Given the description of an element on the screen output the (x, y) to click on. 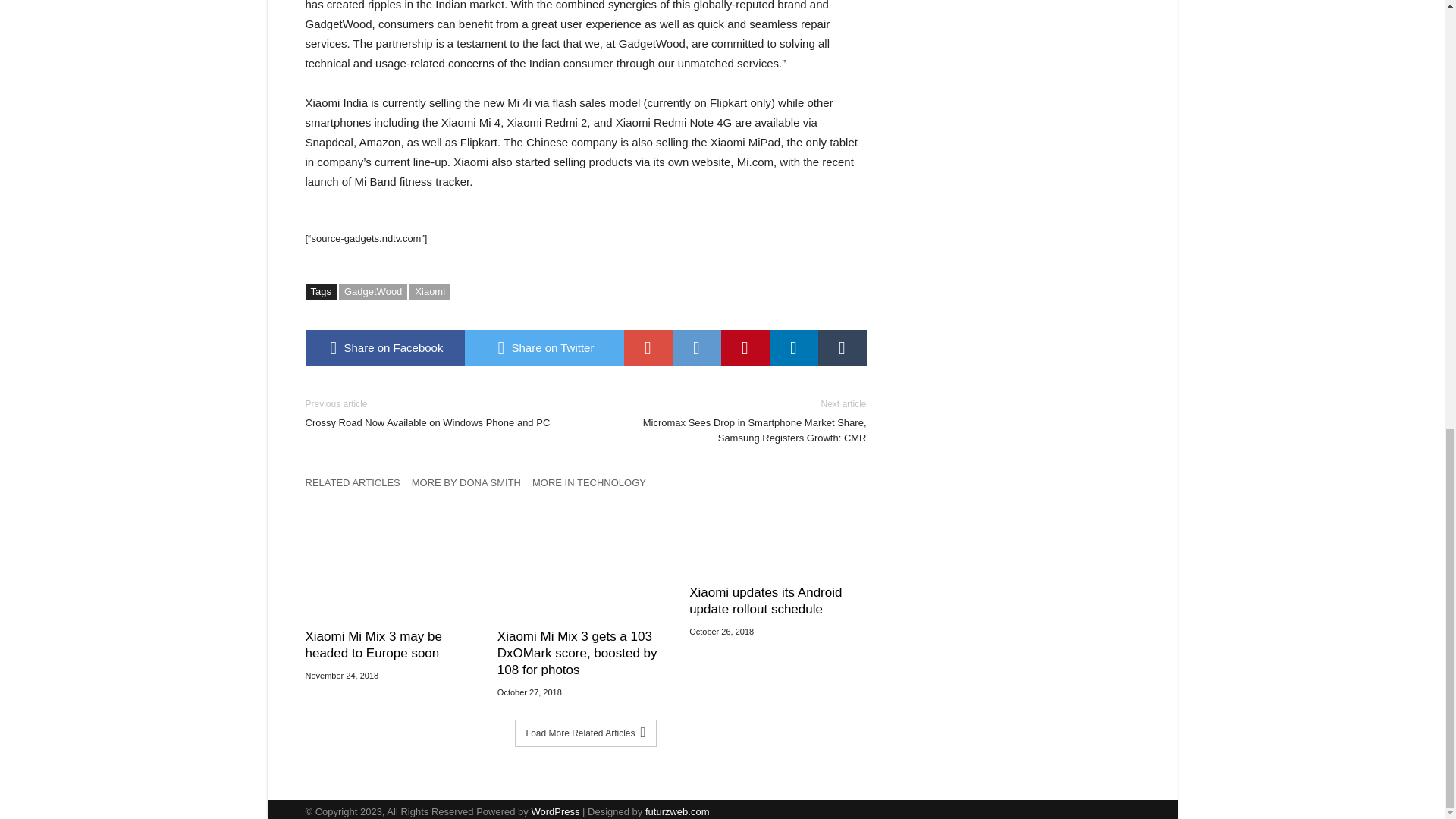
Share on Linkedin (792, 348)
Share on Twitter (543, 348)
Share on Facebook (384, 348)
facebook (384, 348)
twitter (543, 348)
linkedin (792, 348)
MORE IN TECHNOLOGY (595, 486)
pinterest (744, 348)
Share on Tumblr (841, 348)
Xiaomi Mi Mix 3 may be headed to Europe soon (392, 644)
